Given the description of an element on the screen output the (x, y) to click on. 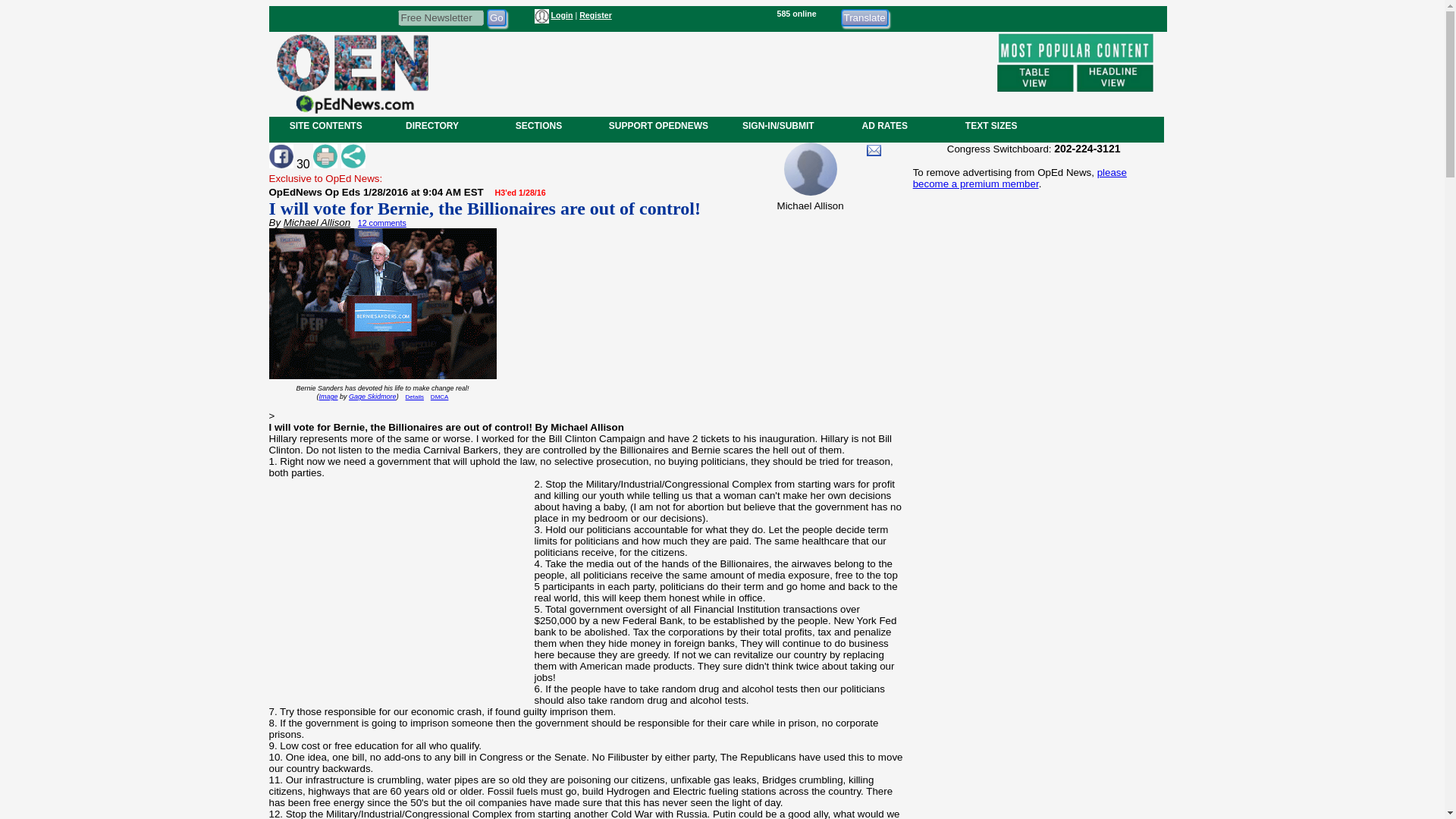
SECTIONS (537, 125)
Share on Facebook (279, 156)
Bernie Sanders has devoted his life to make change real! (381, 392)
Go (496, 17)
Go (496, 17)
Image (327, 396)
Login (561, 14)
Translate (864, 17)
DMCA (439, 396)
Michael Allison (316, 222)
Bernie Sanders has devoted his life to make change real! (381, 305)
Advertisement (711, 71)
Translate (864, 17)
More Sharing (352, 156)
SITE CONTENTS (325, 125)
